Given the description of an element on the screen output the (x, y) to click on. 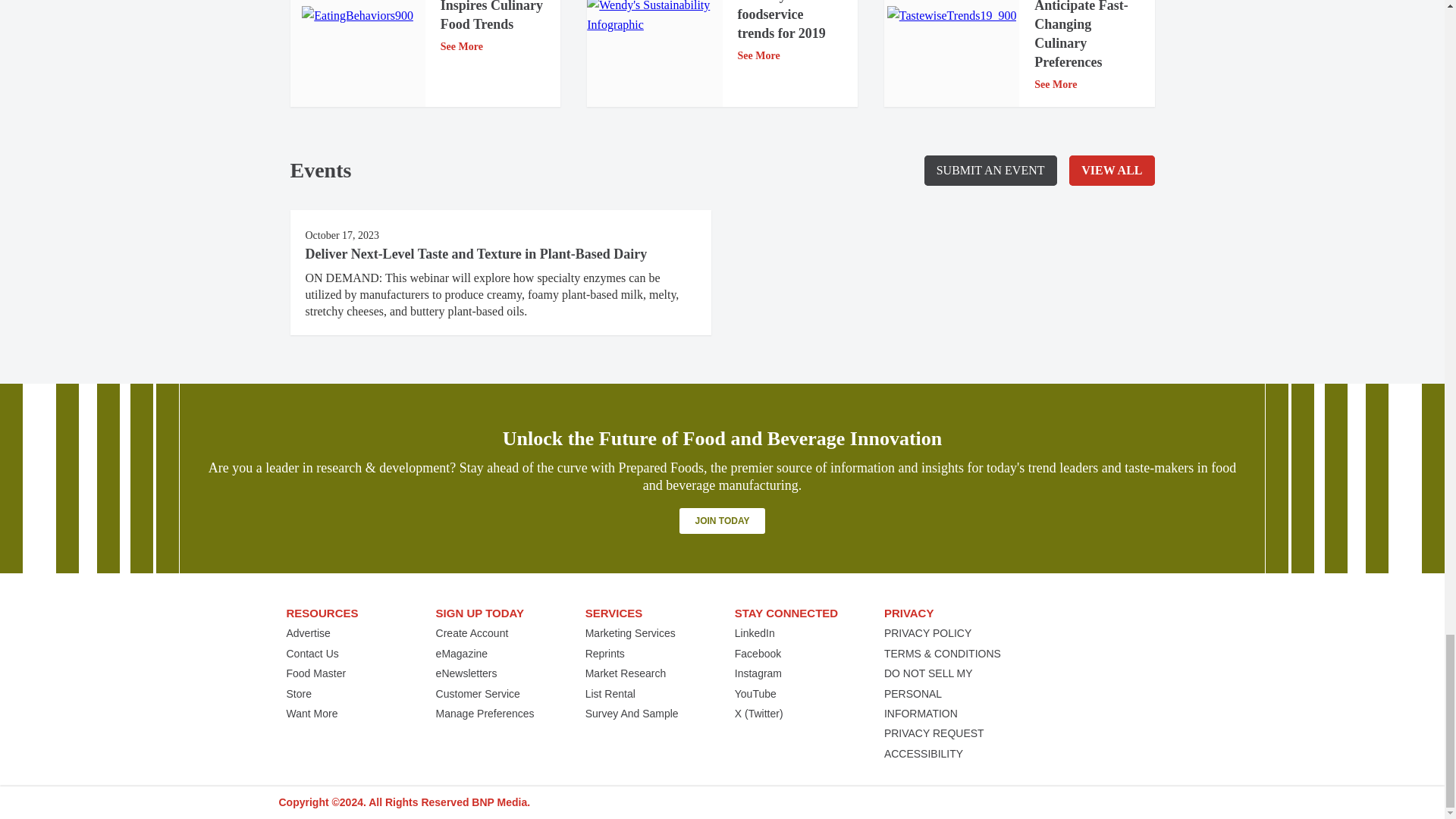
Wendy's Sustainability Infographic (654, 18)
EatingBehaviors900 (357, 15)
